Given the description of an element on the screen output the (x, y) to click on. 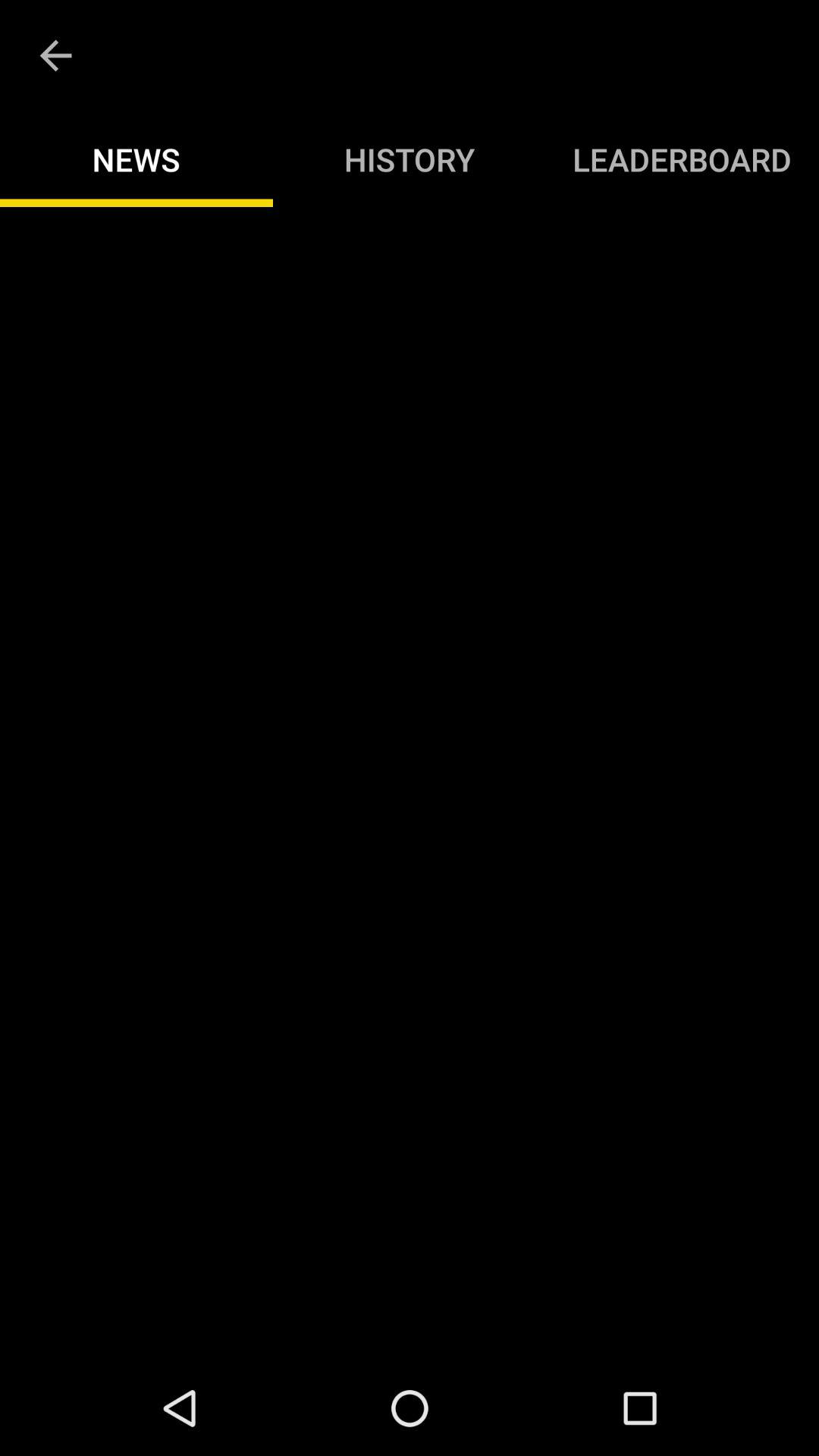
adventisment page (409, 783)
